Given the description of an element on the screen output the (x, y) to click on. 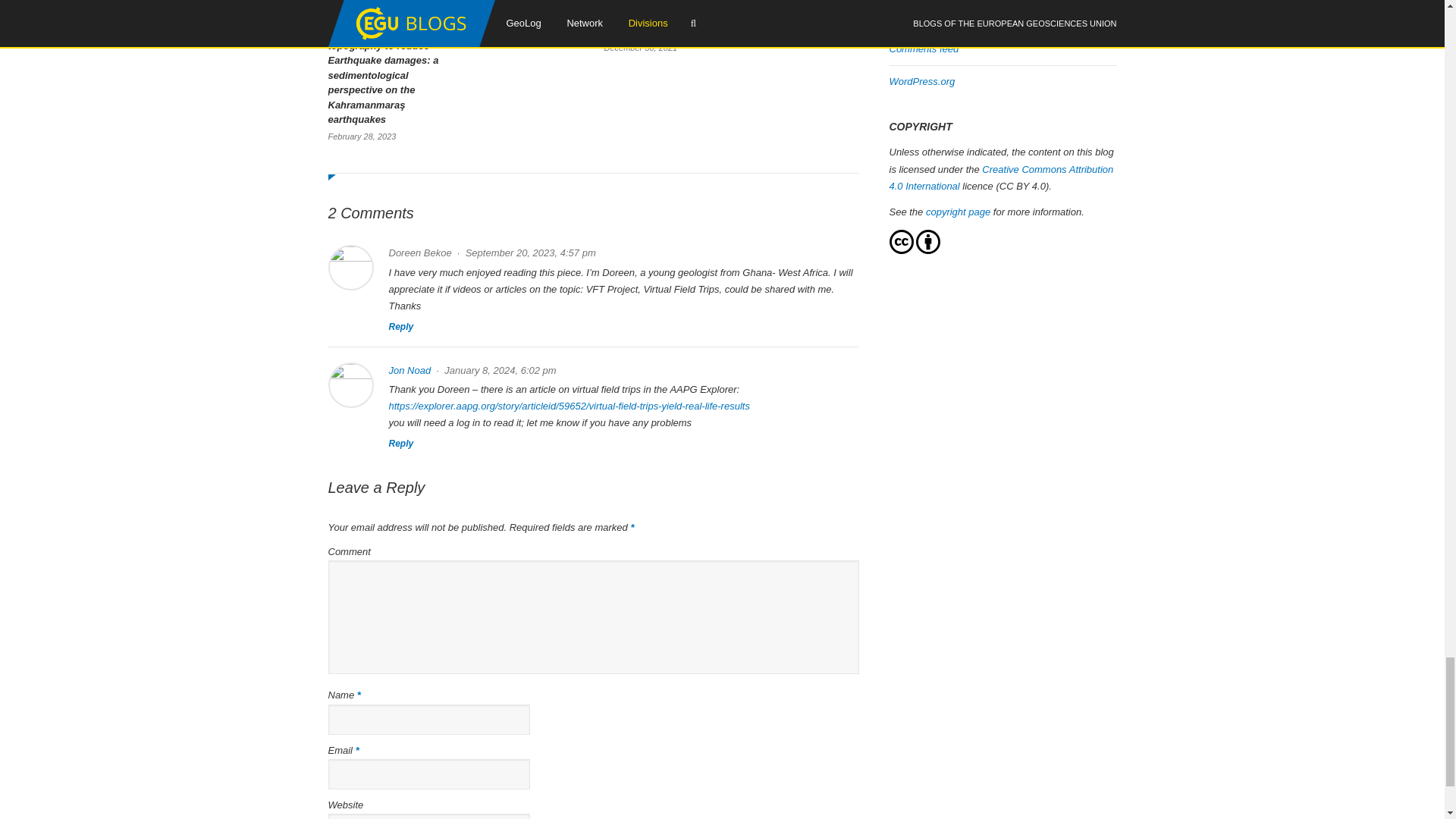
Congo Canyon: A Chat with Dr Steve Simmons (800, 11)
The digitalization of sedimentary outcrops (523, 11)
